Given the description of an element on the screen output the (x, y) to click on. 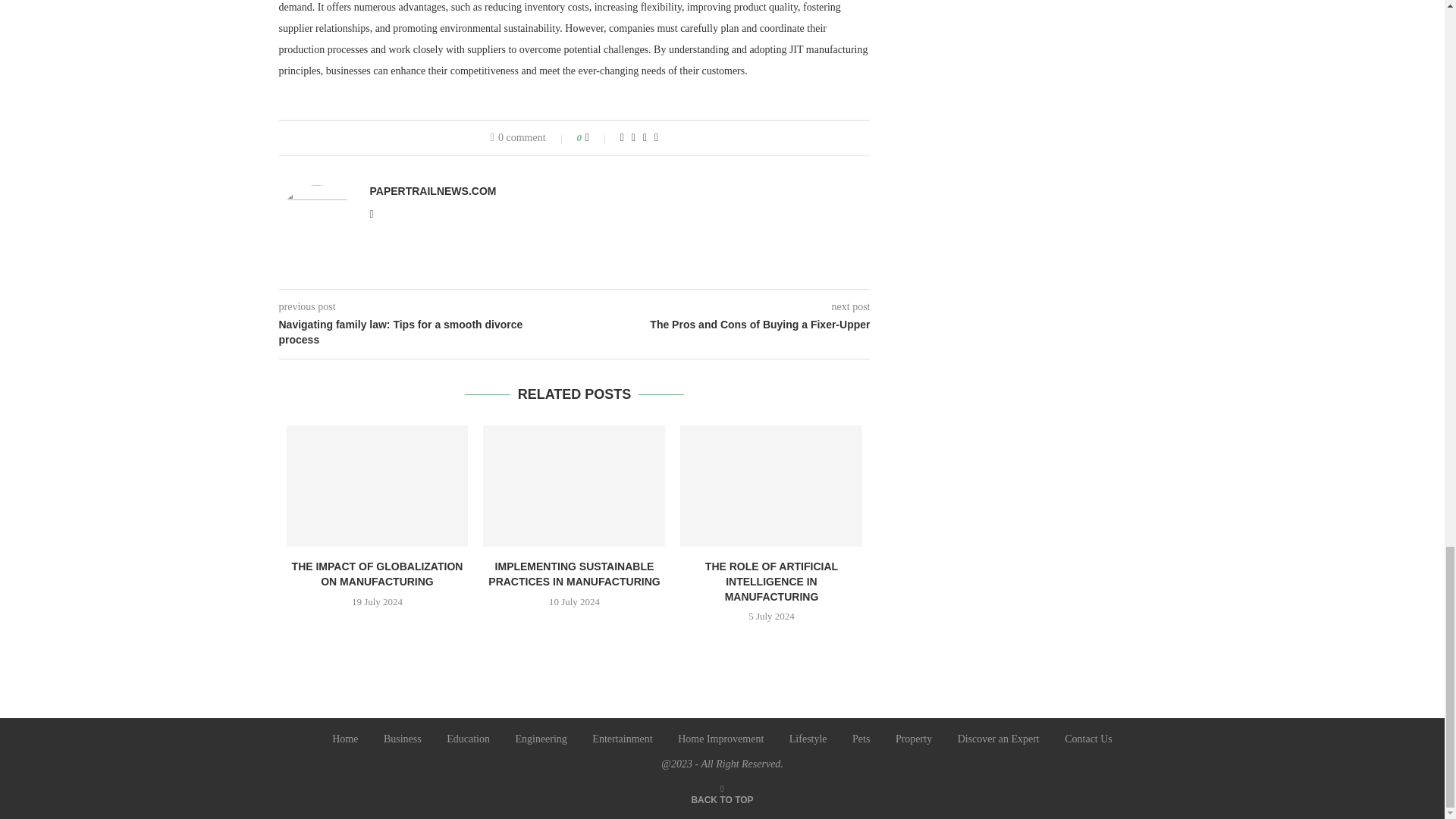
Author papertrailnews.com (432, 191)
PAPERTRAILNEWS.COM (432, 191)
Like (597, 137)
Navigating family law: Tips for a smooth divorce process (427, 332)
The Impact of Globalization on Manufacturing (377, 486)
Implementing Sustainable Practices in Manufacturing (574, 486)
The Pros and Cons of Buying a Fixer-Upper (722, 324)
The Role of Artificial Intelligence in Manufacturing (770, 486)
